Given the description of an element on the screen output the (x, y) to click on. 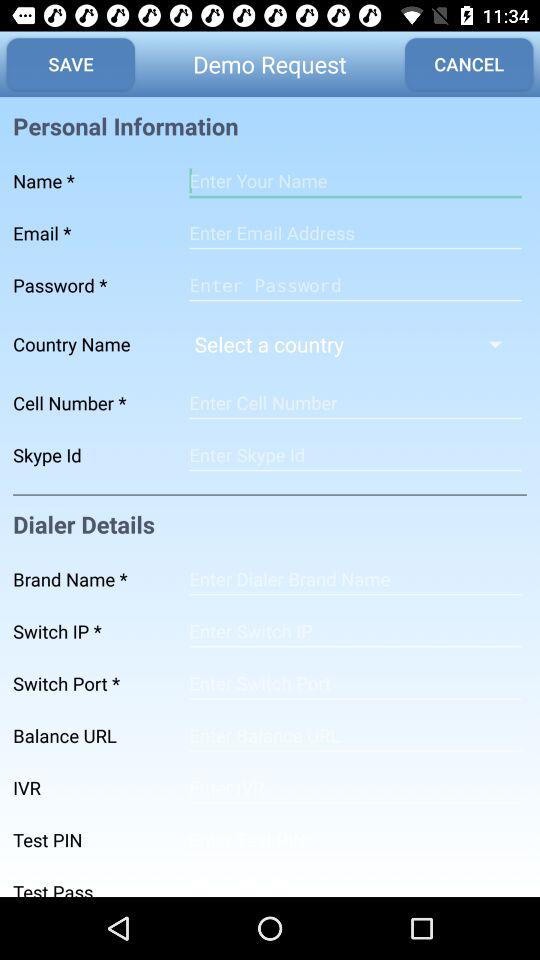
put skype id (355, 455)
